Given the description of an element on the screen output the (x, y) to click on. 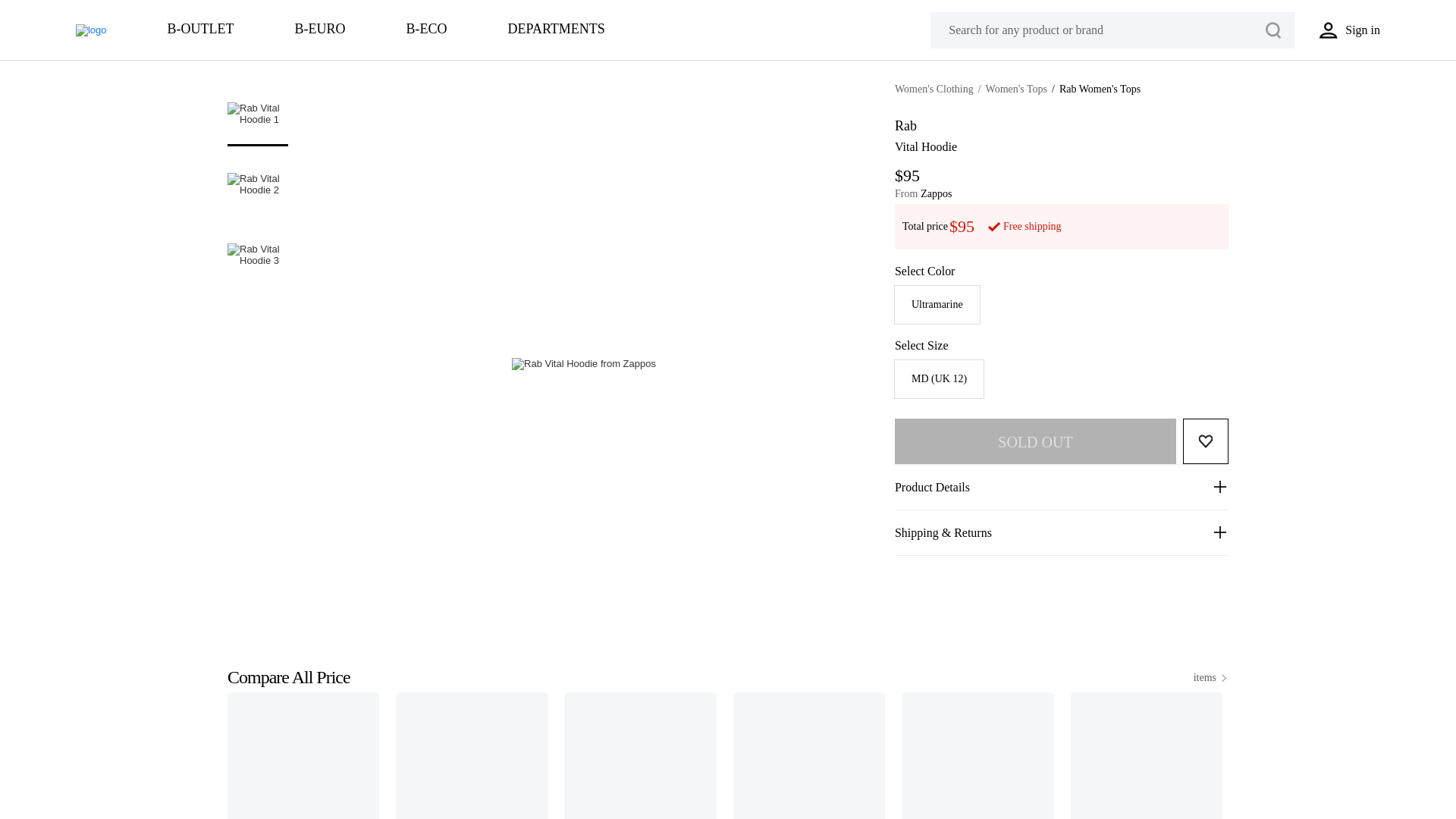
B-OUTLET (200, 29)
Rab Women's Tops (1099, 89)
euro mode (320, 29)
B-ECO (426, 29)
homepage (90, 30)
B-EURO (320, 29)
Women's Clothing (934, 89)
Loading... (727, 755)
Women's Tops (1015, 89)
eco mode (426, 29)
